Given the description of an element on the screen output the (x, y) to click on. 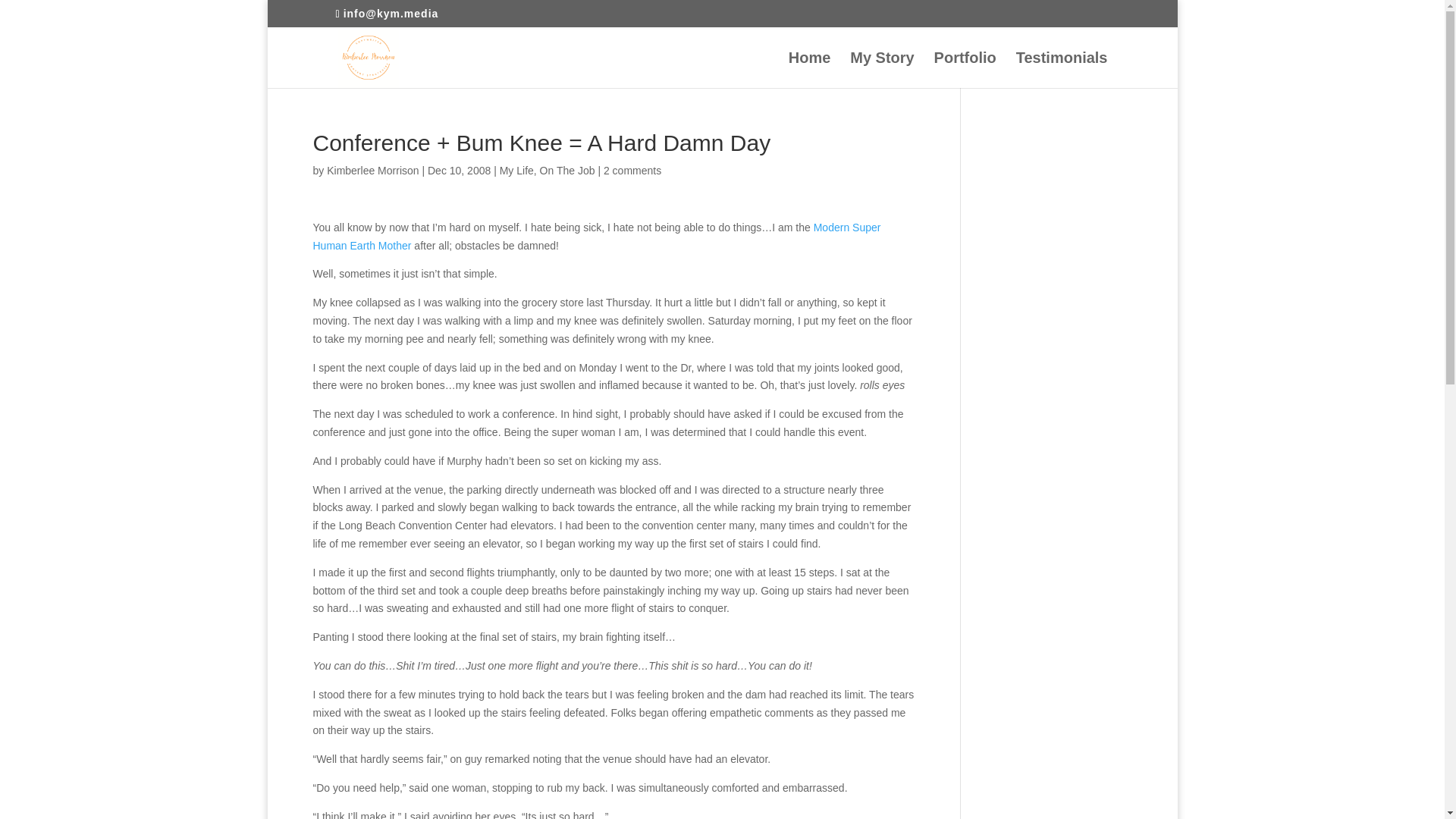
Testimonials (1062, 69)
My Story (882, 69)
Home (810, 69)
Posts by Kimberlee Morrison (372, 170)
My Life (516, 170)
On The Job (567, 170)
Kimberlee Morrison (372, 170)
Modern Super Human Earth Mother (596, 236)
2 comments (632, 170)
Portfolio (964, 69)
